Given the description of an element on the screen output the (x, y) to click on. 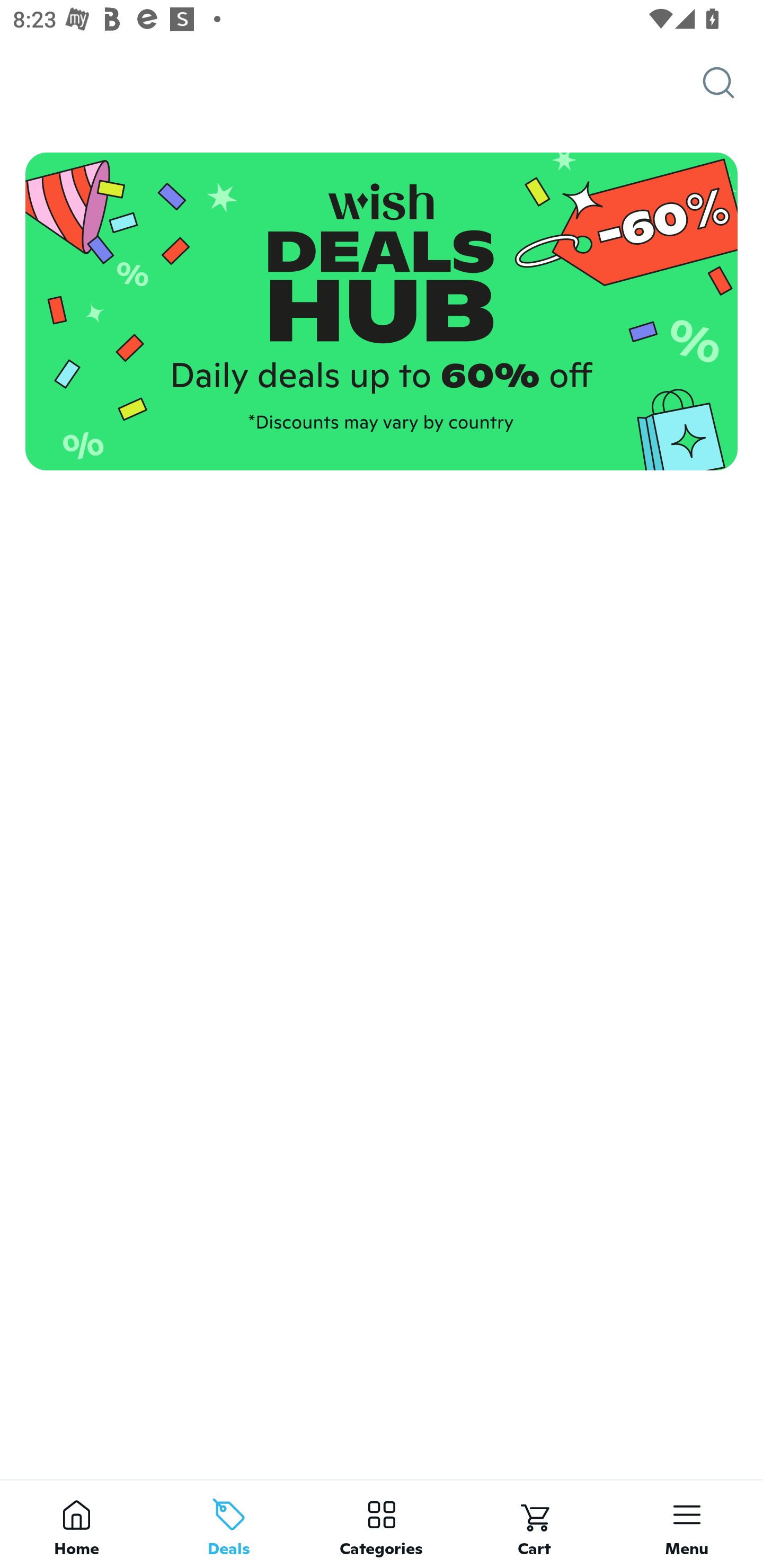
Search (732, 82)
Home (76, 1523)
Deals (228, 1523)
Categories (381, 1523)
Cart (533, 1523)
Menu (686, 1523)
